Given the description of an element on the screen output the (x, y) to click on. 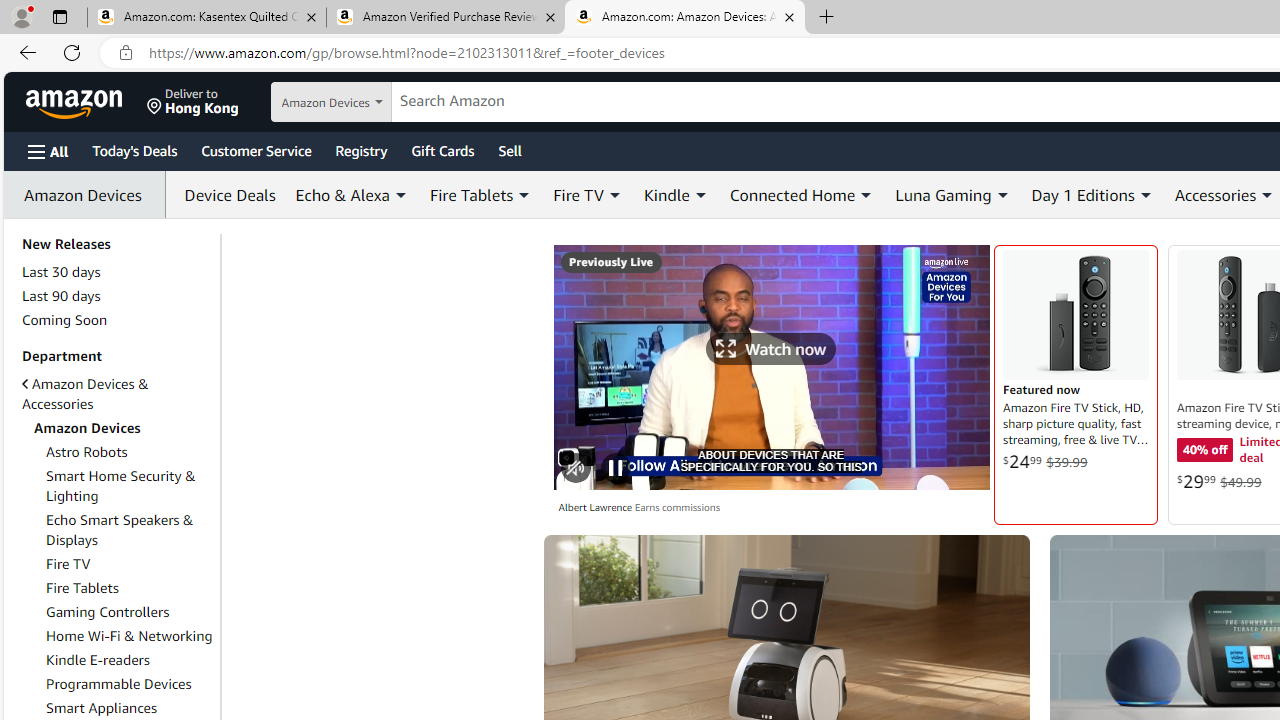
Expand Accessories (1267, 195)
Kindle (676, 194)
Device Deals (225, 194)
Expand Fire TV (614, 195)
Home Wi-Fi & Networking (129, 636)
Amazon Devices (117, 427)
Customer Service (256, 150)
Gaming Controllers (108, 611)
Last 30 days (61, 271)
Echo Smart Speakers & Displays (120, 529)
Disable Closed Captions (963, 470)
Programmable Devices (119, 683)
